Given the description of an element on the screen output the (x, y) to click on. 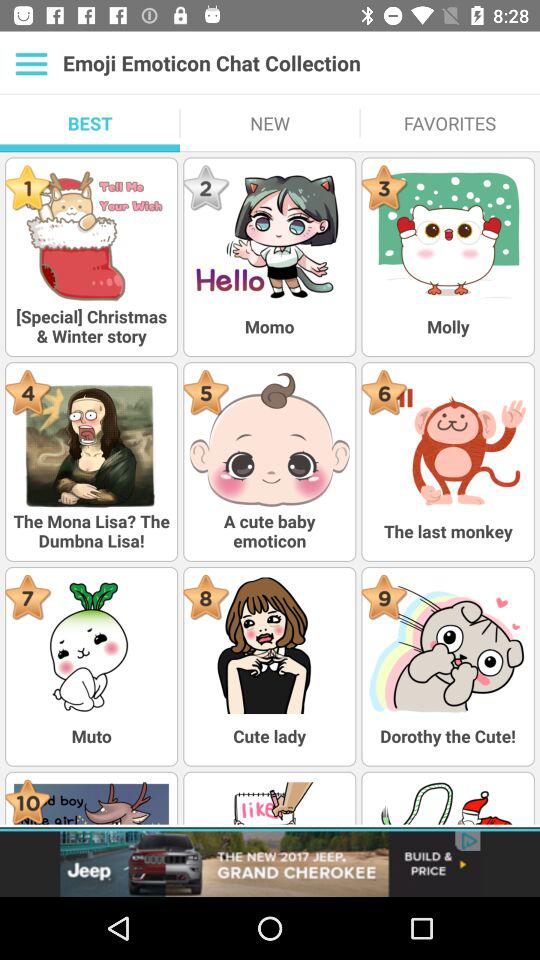
open advertisement (270, 864)
